Given the description of an element on the screen output the (x, y) to click on. 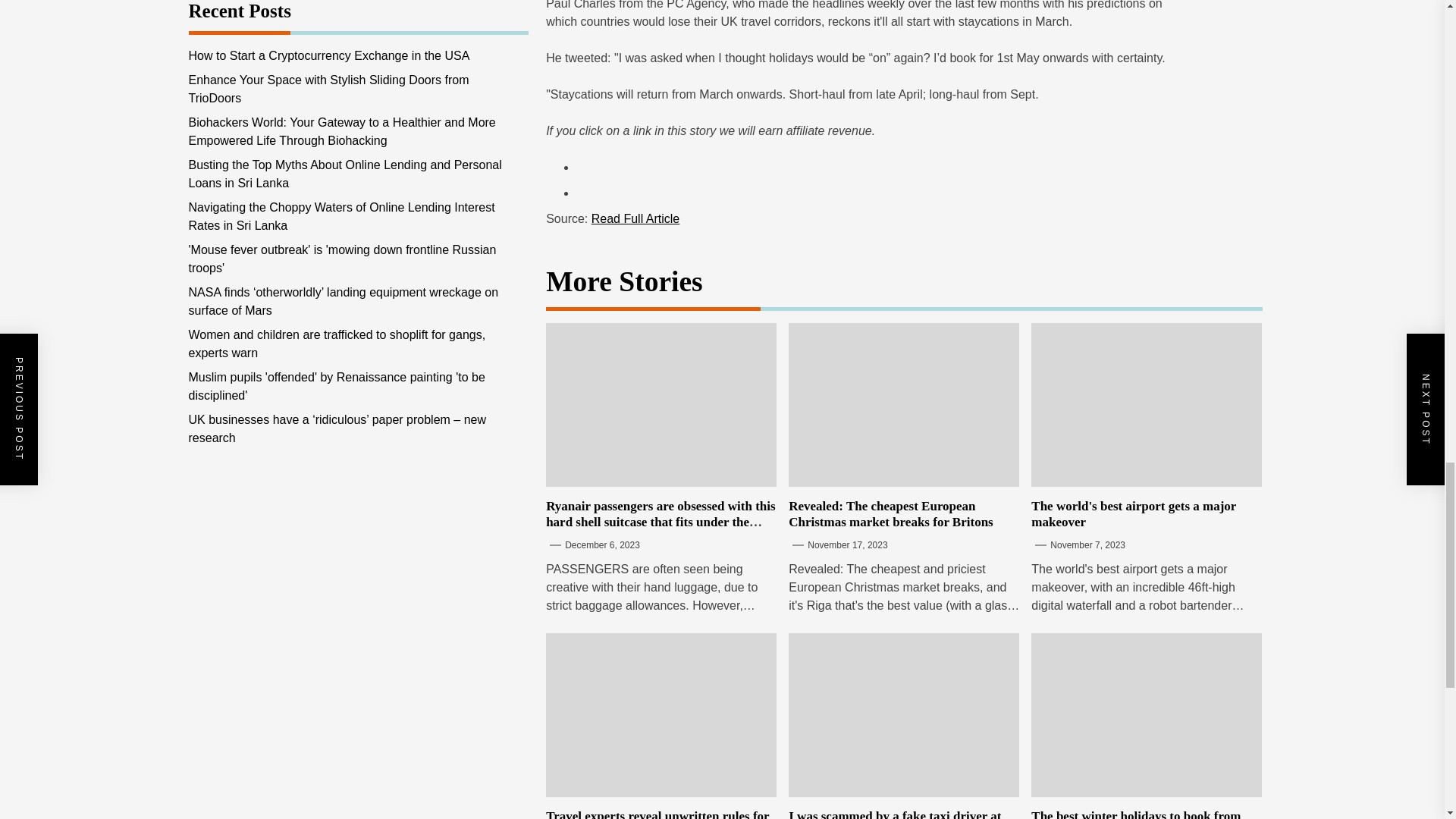
Read Full Article (635, 218)
